Given the description of an element on the screen output the (x, y) to click on. 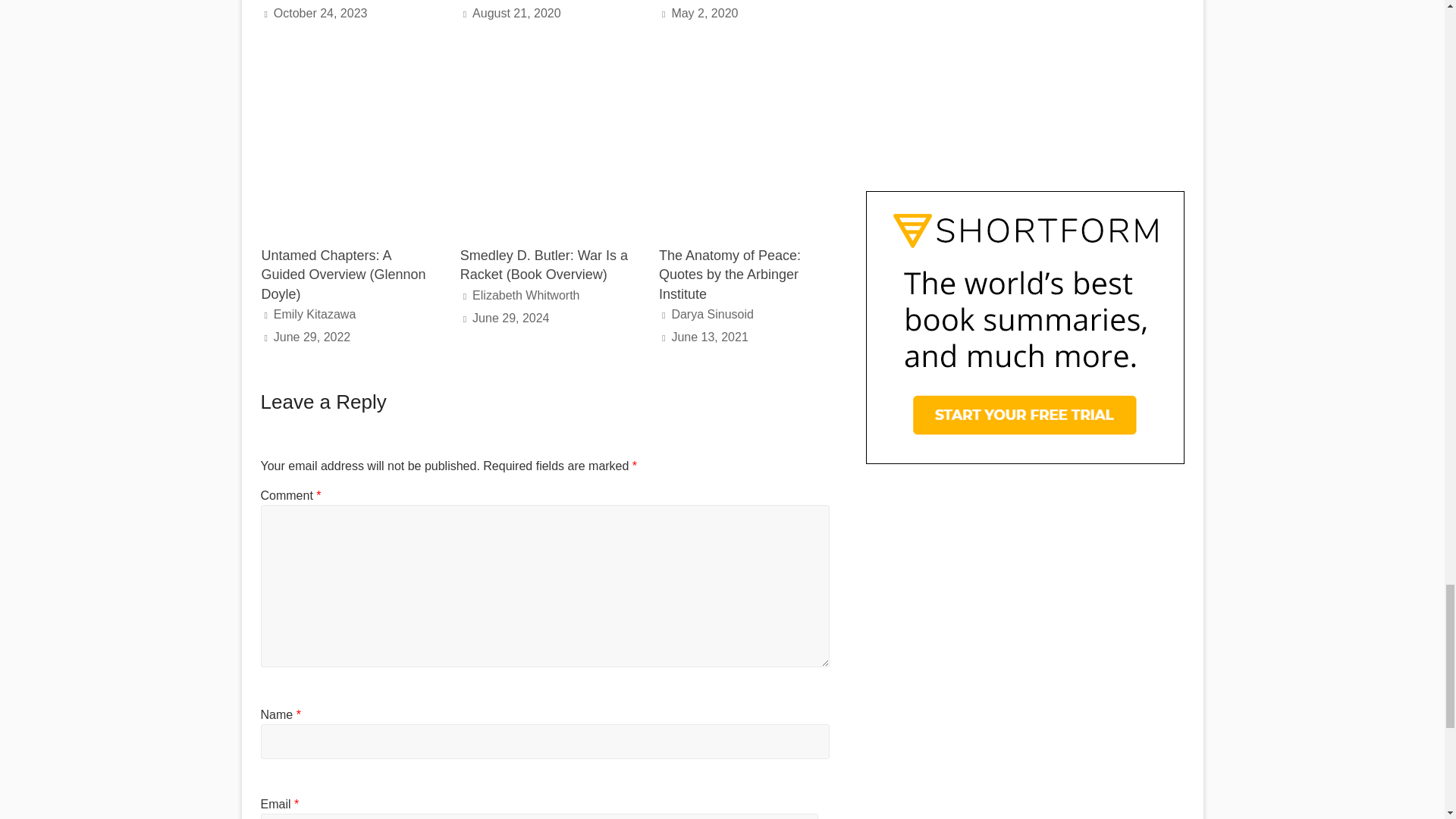
10:32 pm (515, 12)
May 2, 2020 (704, 12)
11:16 am (704, 12)
June 29, 2022 (311, 336)
August 21, 2020 (515, 12)
10:59 am (320, 12)
October 24, 2023 (320, 12)
Emily Kitazawa (314, 314)
